Given the description of an element on the screen output the (x, y) to click on. 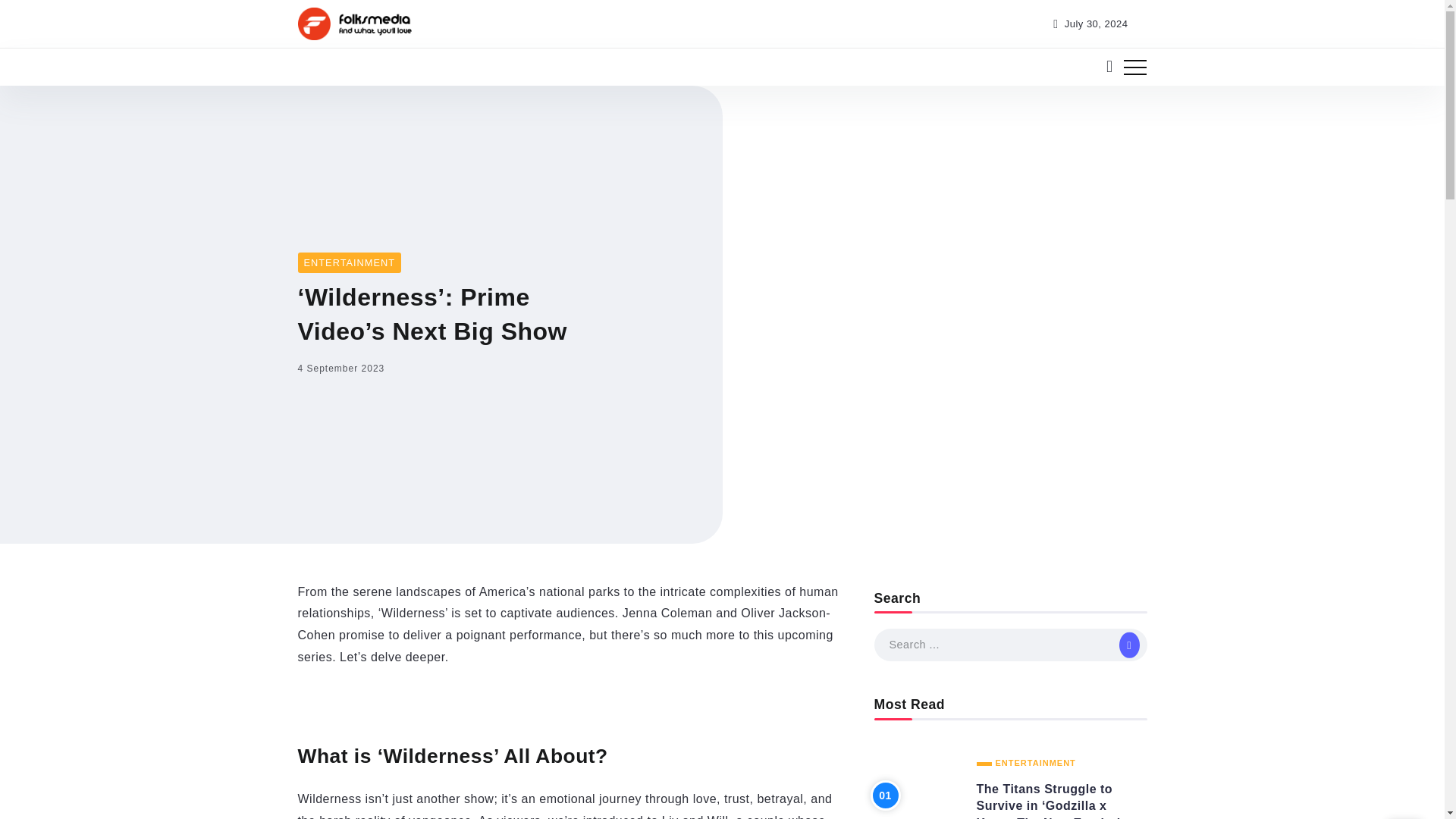
ENTERTAINMENT (349, 262)
Entertainment (349, 262)
ENTERTAINMENT (1025, 763)
Folksmedia (353, 22)
